Given the description of an element on the screen output the (x, y) to click on. 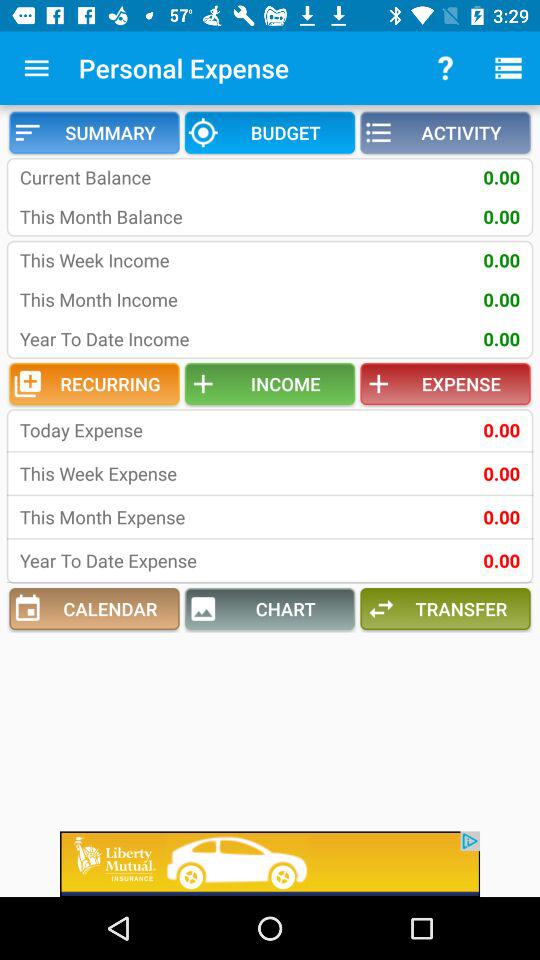
click icon above the summary (36, 68)
